Given the description of an element on the screen output the (x, y) to click on. 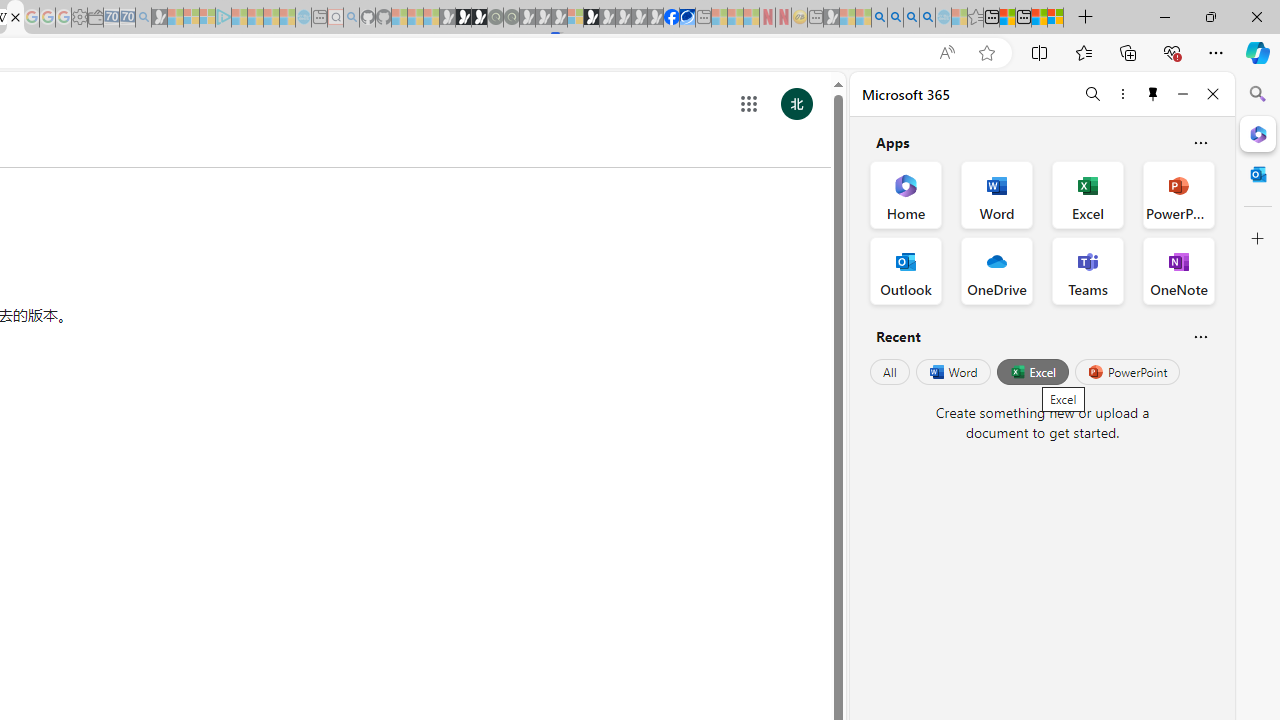
Play Zoo Boom in your browser | Games from Microsoft Start (463, 17)
Word (952, 372)
Settings - Sleeping (79, 17)
